Given the description of an element on the screen output the (x, y) to click on. 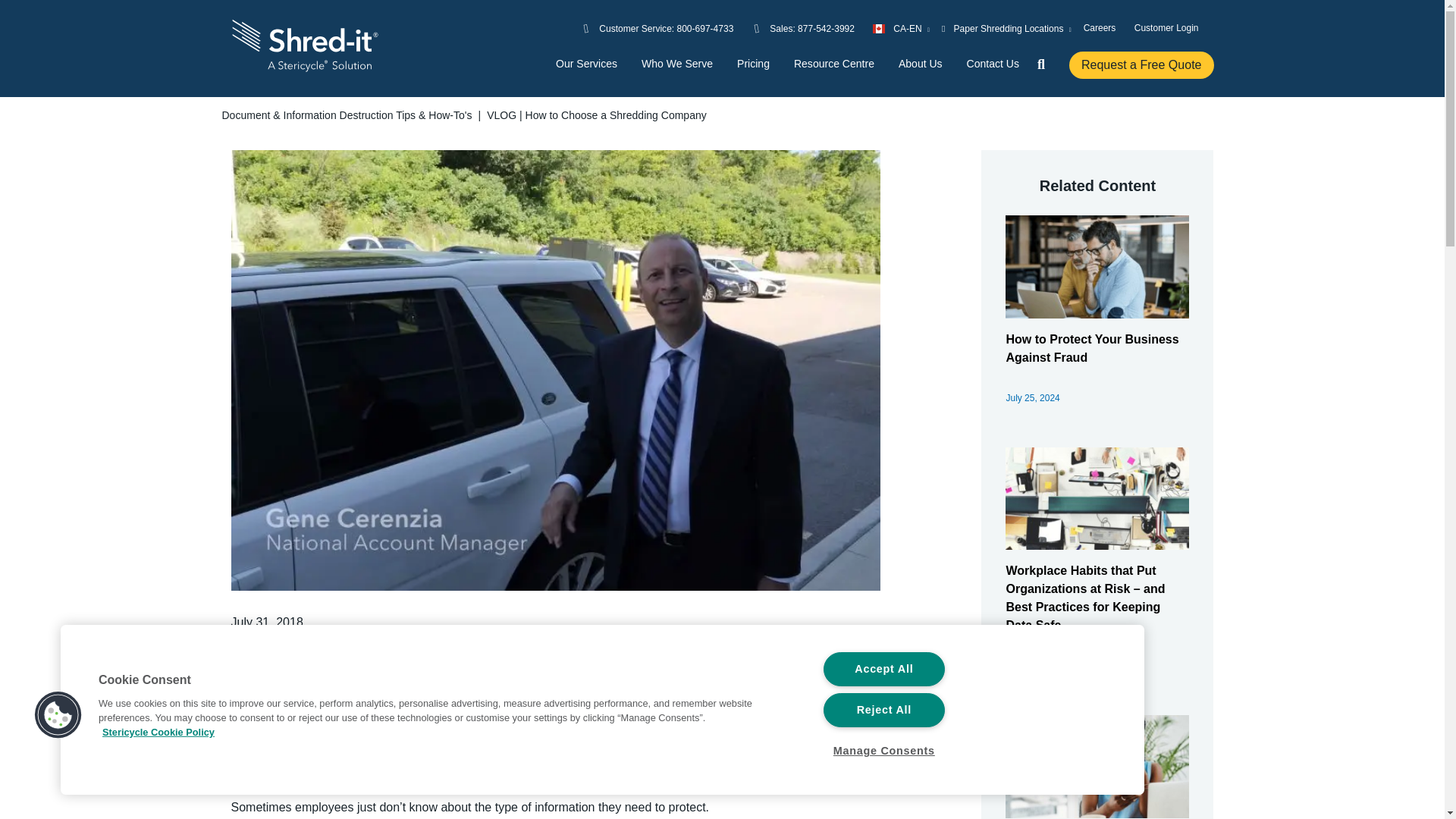
Sales: 877-542-3992 (812, 28)
Who We Serve (677, 63)
Careers (1099, 27)
CA-EN (901, 28)
Paper Shredding Locations (1006, 28)
Customer Login (1166, 27)
Our Services (586, 63)
Customer Service: 800-697-4733 (665, 28)
Cookies Button (57, 715)
